Given the description of an element on the screen output the (x, y) to click on. 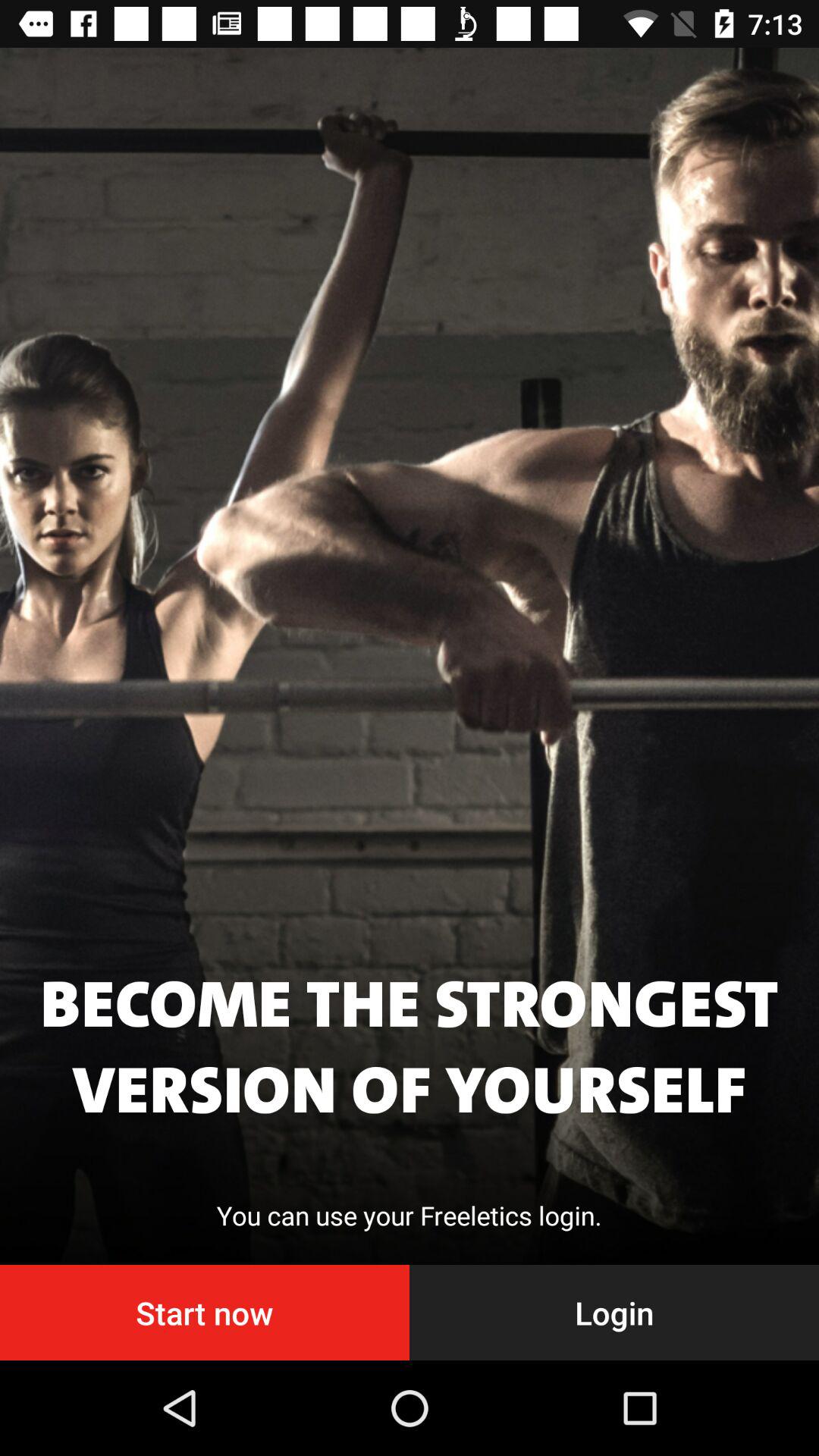
choose start now icon (204, 1312)
